Given the description of an element on the screen output the (x, y) to click on. 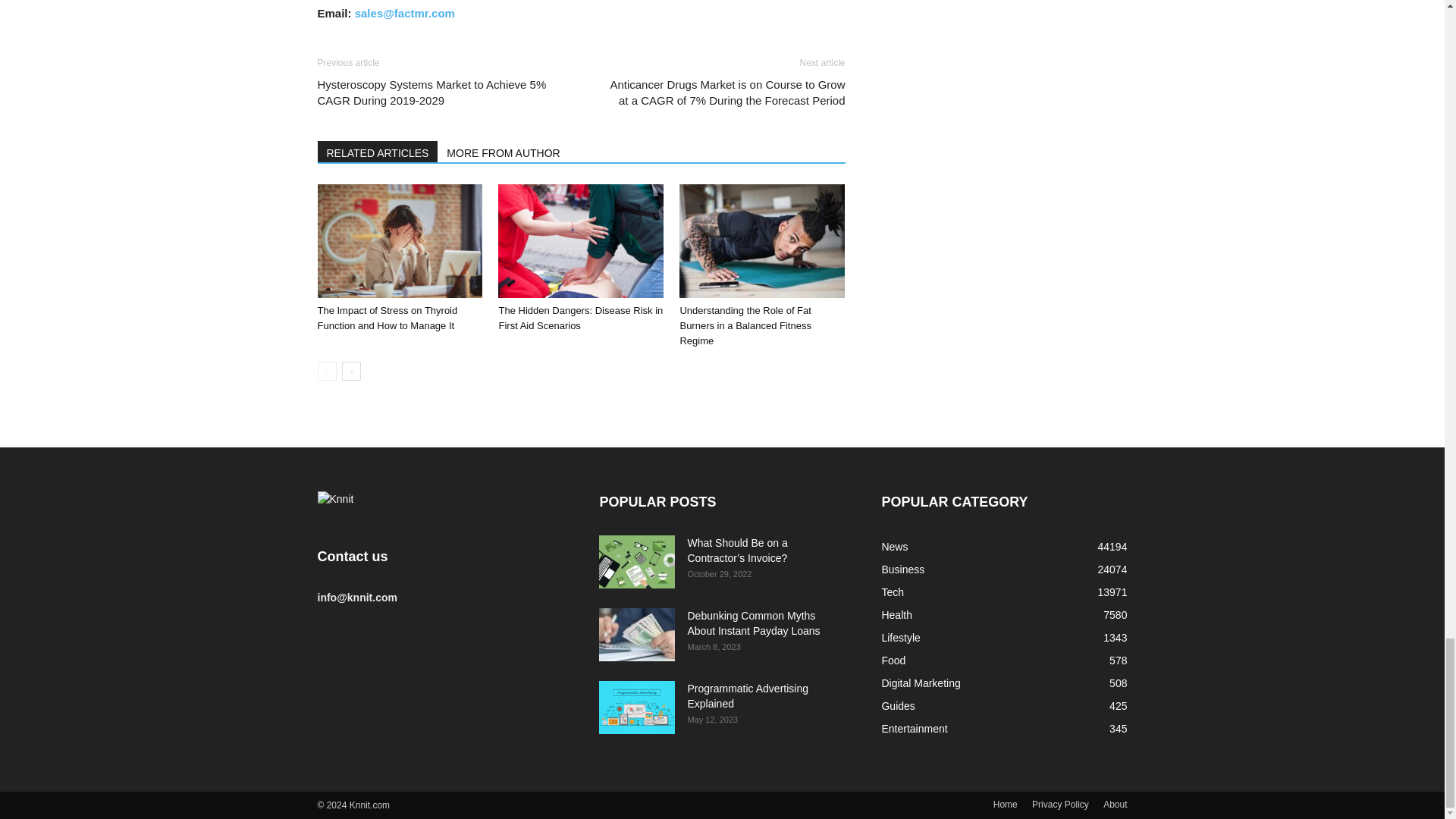
The Hidden Dangers: Disease Risk in First Aid Scenarios (580, 241)
MORE FROM AUTHOR (503, 151)
The Hidden Dangers: Disease Risk in First Aid Scenarios (579, 317)
RELATED ARTICLES (377, 151)
